Given the description of an element on the screen output the (x, y) to click on. 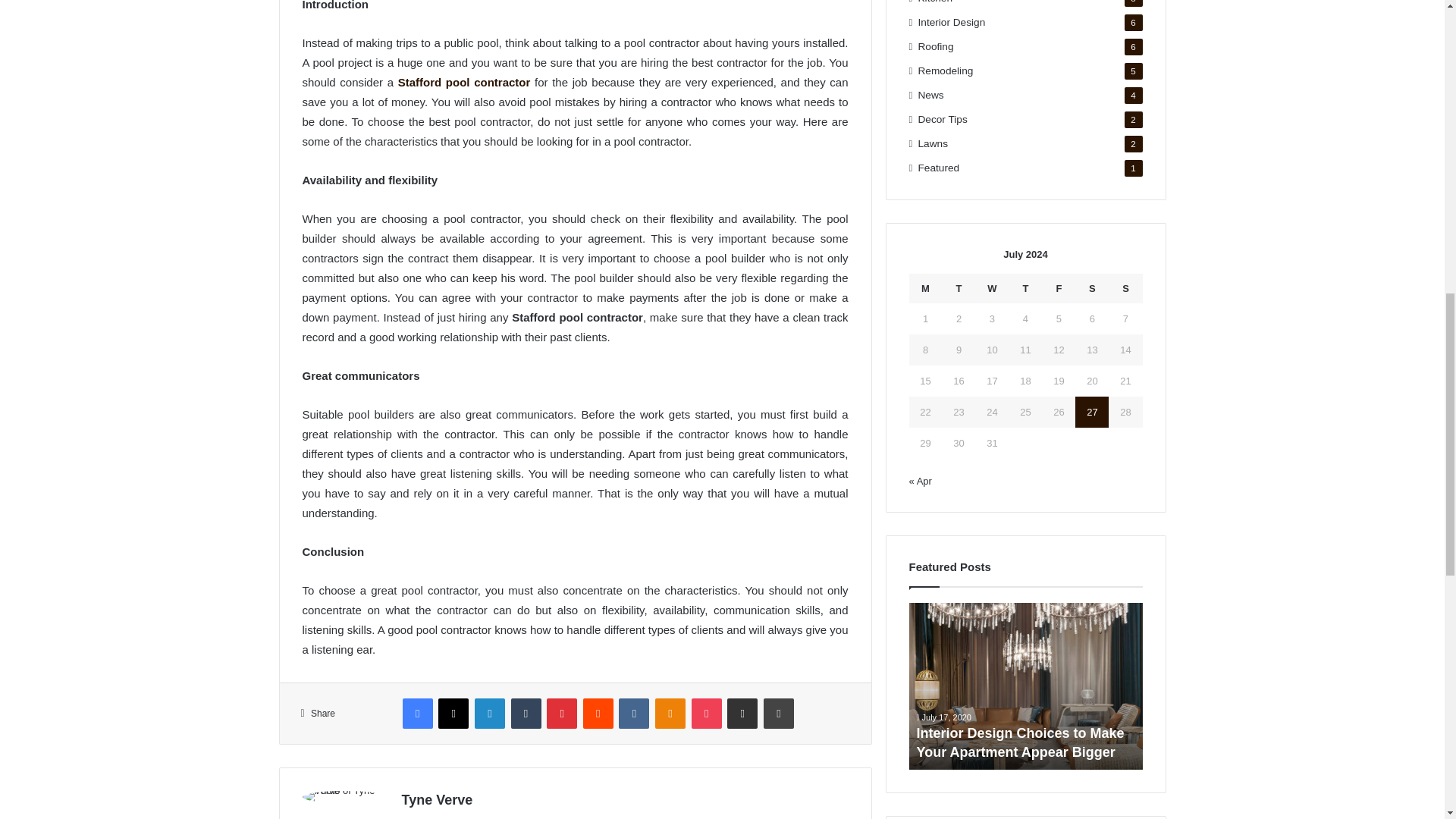
Stafford pool contractor (464, 82)
